Given the description of an element on the screen output the (x, y) to click on. 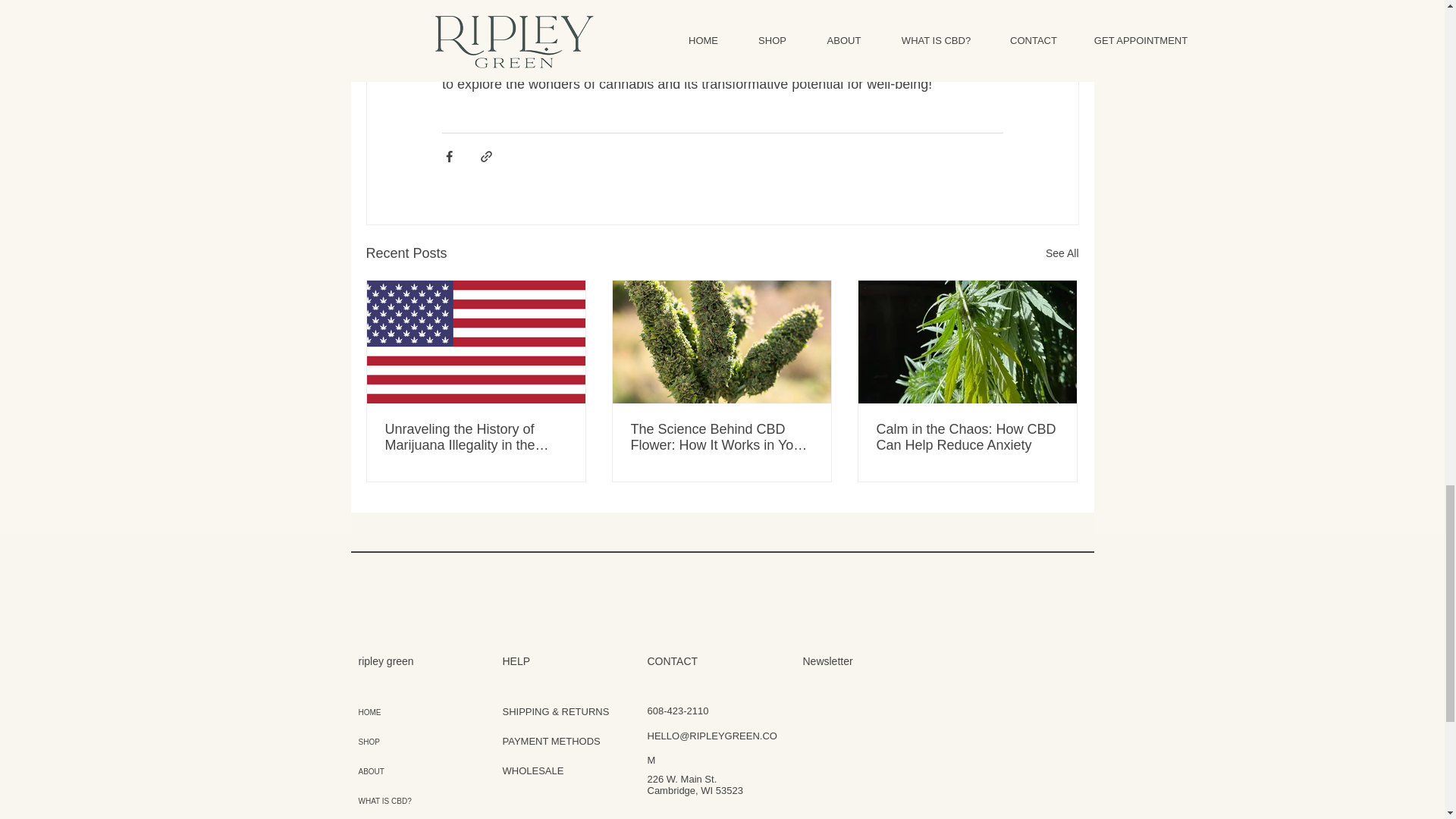
ABOUT (399, 771)
SHOP (399, 741)
CONTACT (399, 817)
PAYMENT METHODS (550, 740)
Calm in the Chaos: How CBD Can Help Reduce Anxiety (967, 437)
Newsletter signup form (938, 744)
Cambridge, WI 53523 (694, 790)
WHAT IS CBD? (399, 800)
226 W. Main St. (682, 778)
WHOLESALE (532, 770)
